Given the description of an element on the screen output the (x, y) to click on. 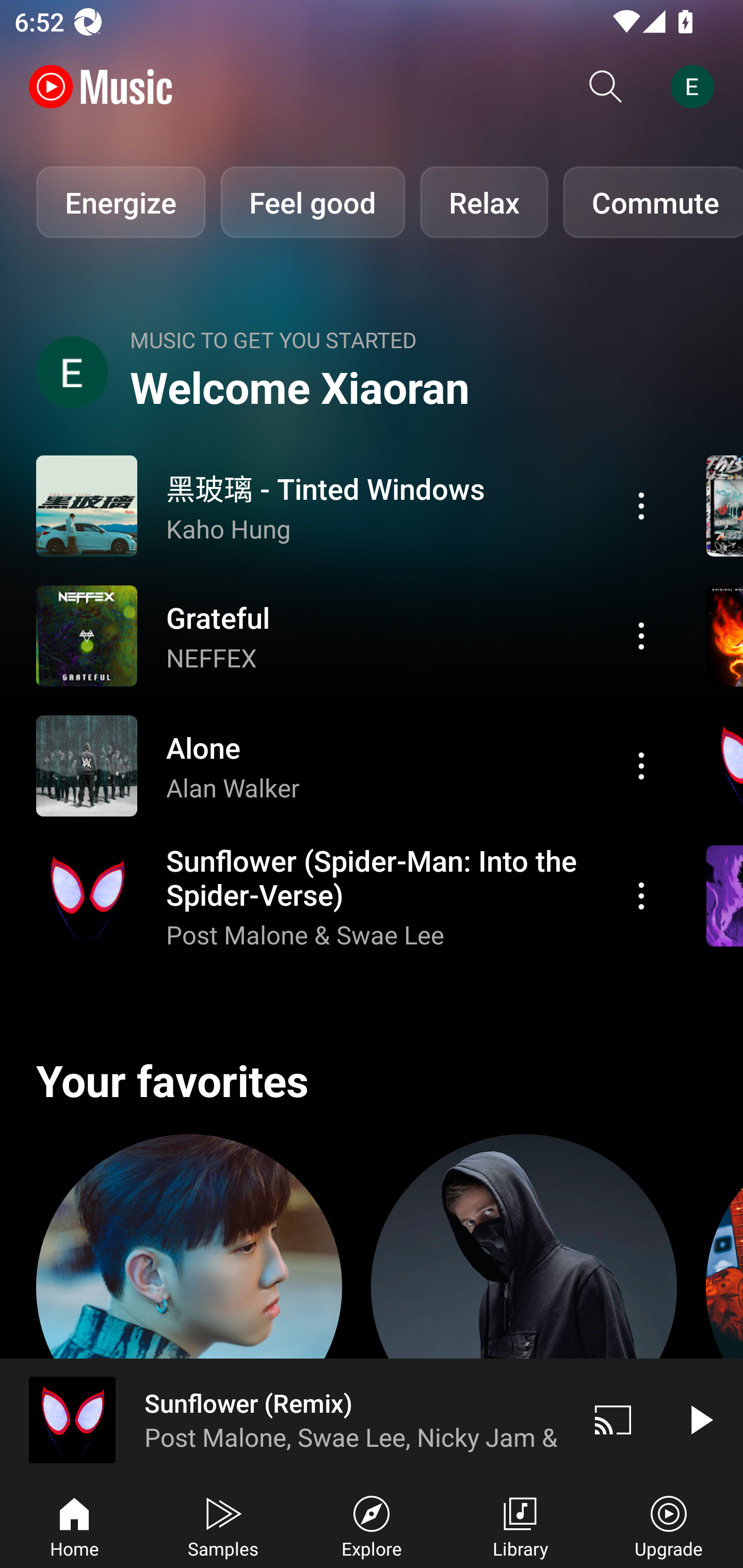
Search (605, 86)
Account (696, 86)
Action menu (349, 505)
Action menu (641, 505)
Action menu (349, 635)
Action menu (641, 635)
Action menu (349, 765)
Action menu (641, 765)
Action menu (349, 896)
Action menu (641, 896)
Cast. Disconnected (612, 1419)
Play video (699, 1419)
Samples (222, 1524)
Explore (371, 1524)
Library (519, 1524)
Upgrade (668, 1524)
